Given the description of an element on the screen output the (x, y) to click on. 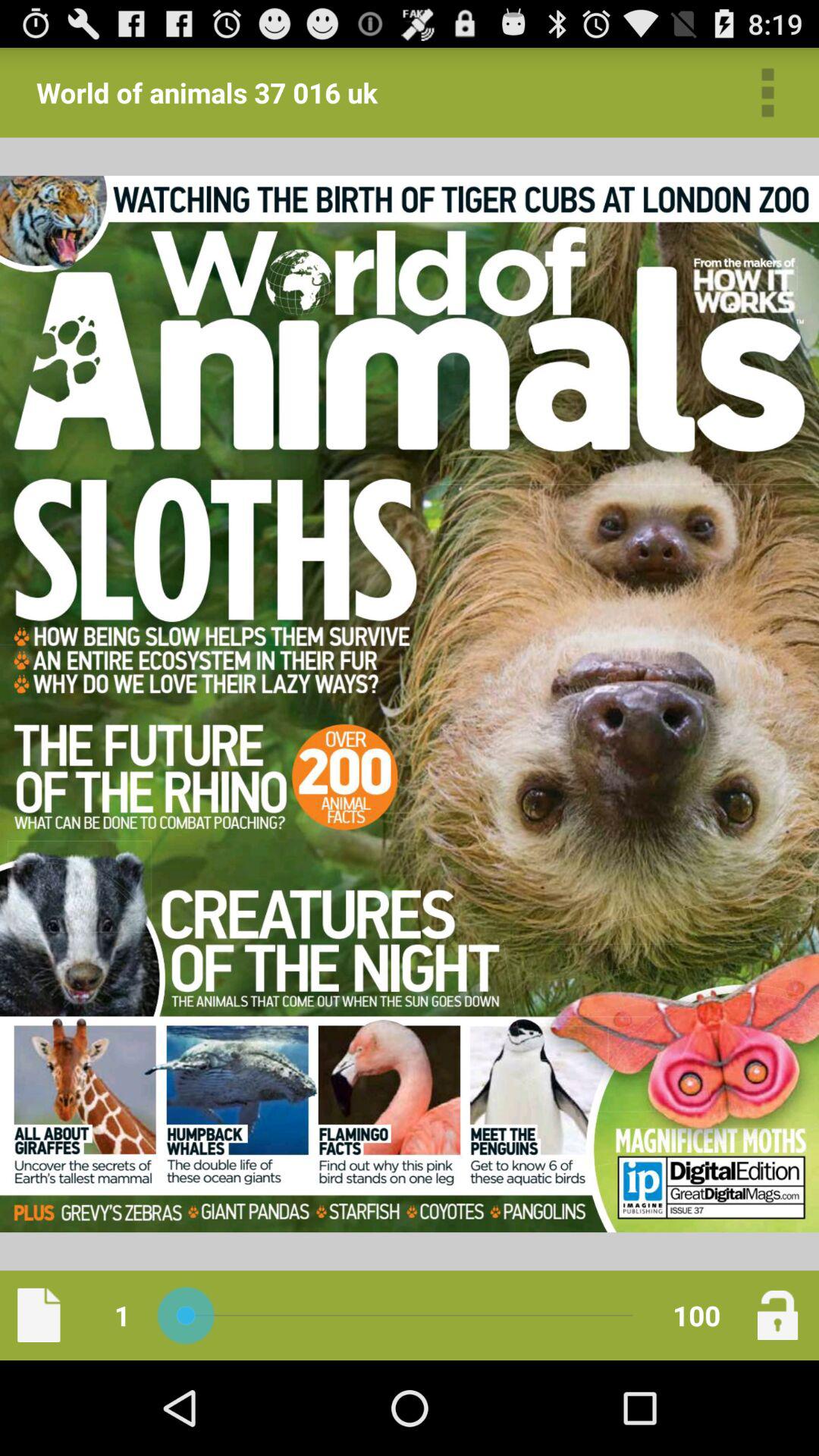
turn off item next to the world of animals app (767, 92)
